Given the description of an element on the screen output the (x, y) to click on. 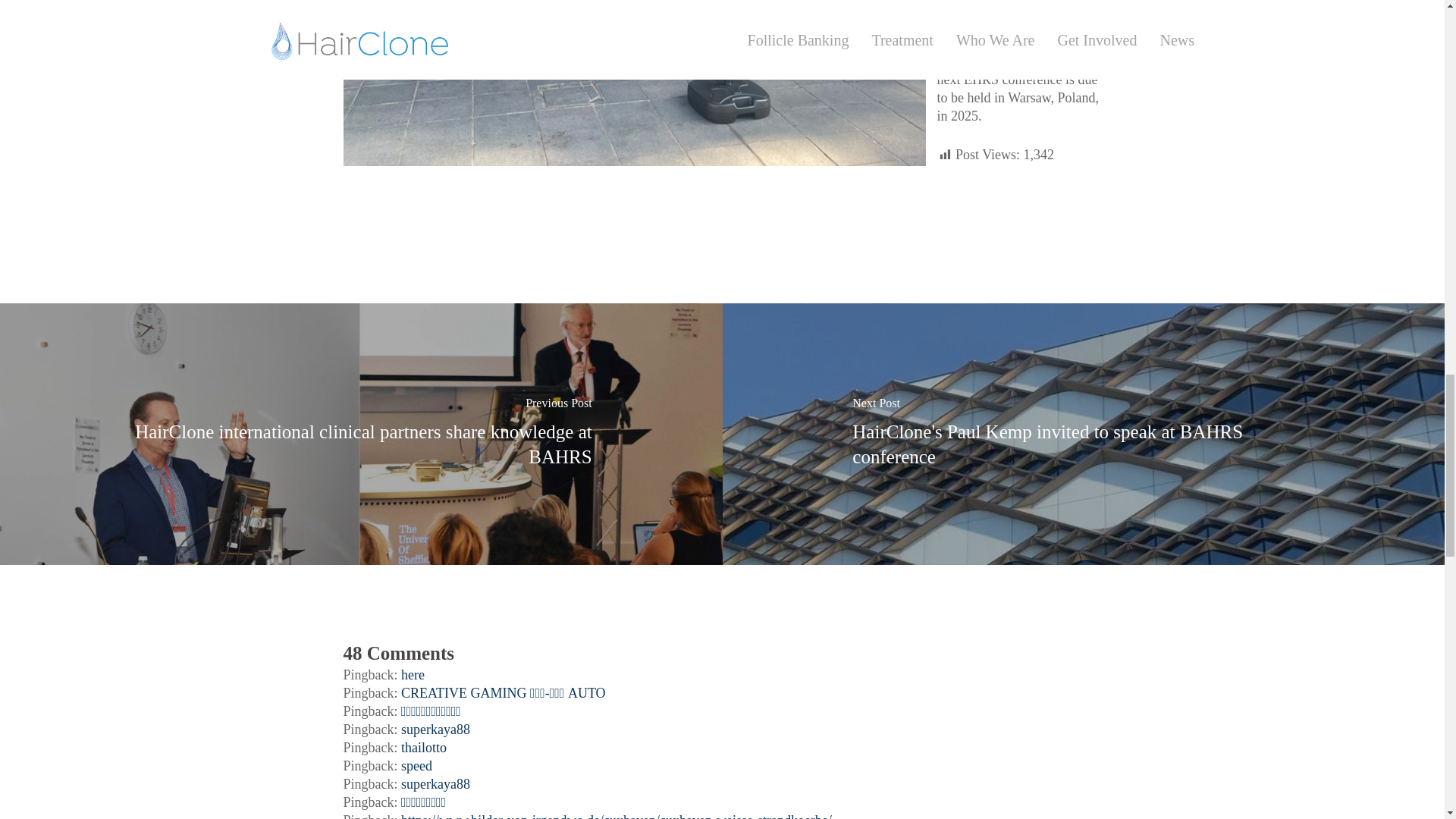
superkaya88 (435, 783)
here (413, 674)
speed (416, 765)
thailotto (423, 747)
superkaya88 (435, 729)
